Given the description of an element on the screen output the (x, y) to click on. 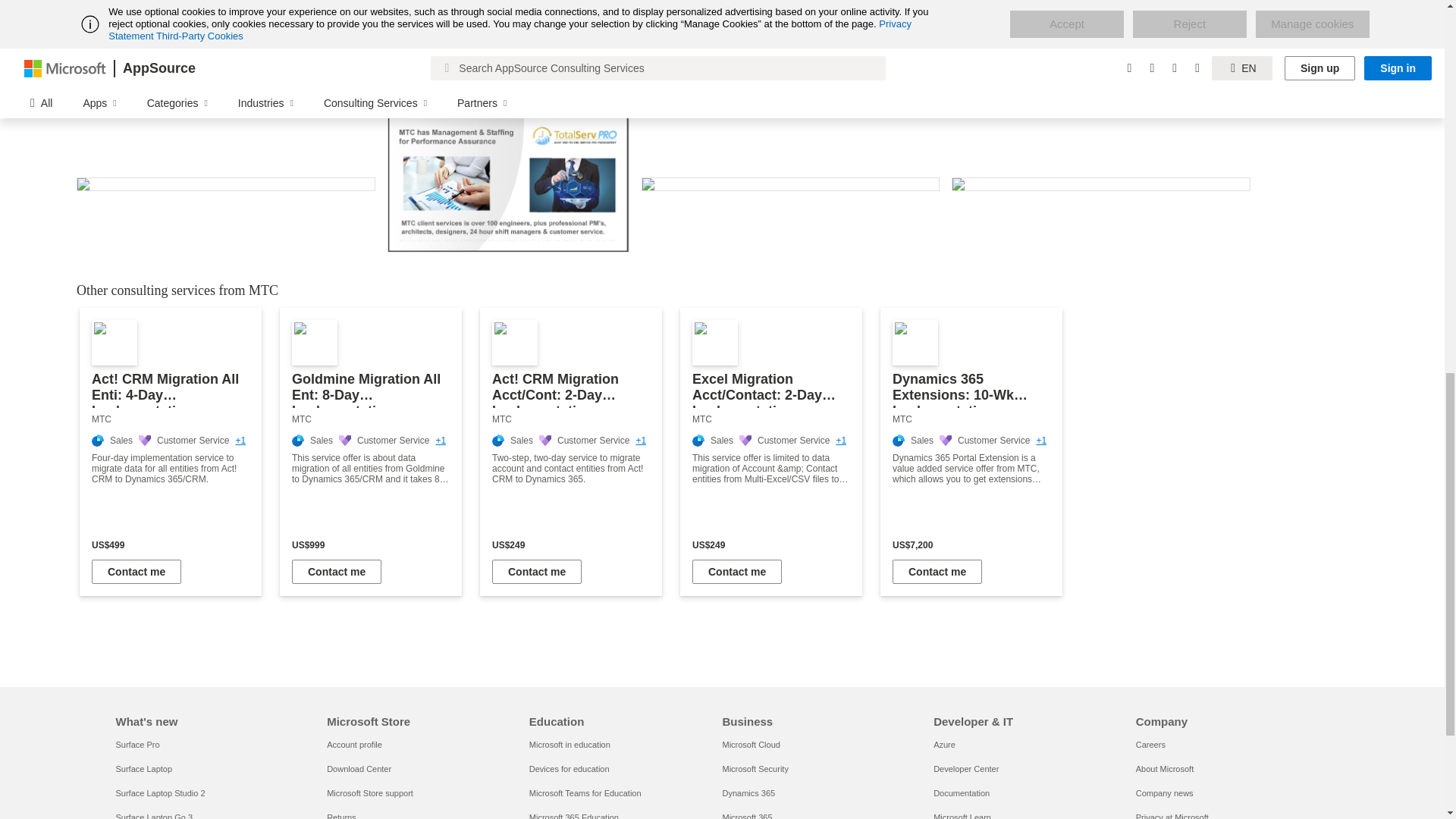
Contact me (135, 571)
Surface Pro (136, 744)
Contact me (737, 571)
Contact me (536, 571)
Contact me (336, 571)
Contact me (936, 571)
